Given the description of an element on the screen output the (x, y) to click on. 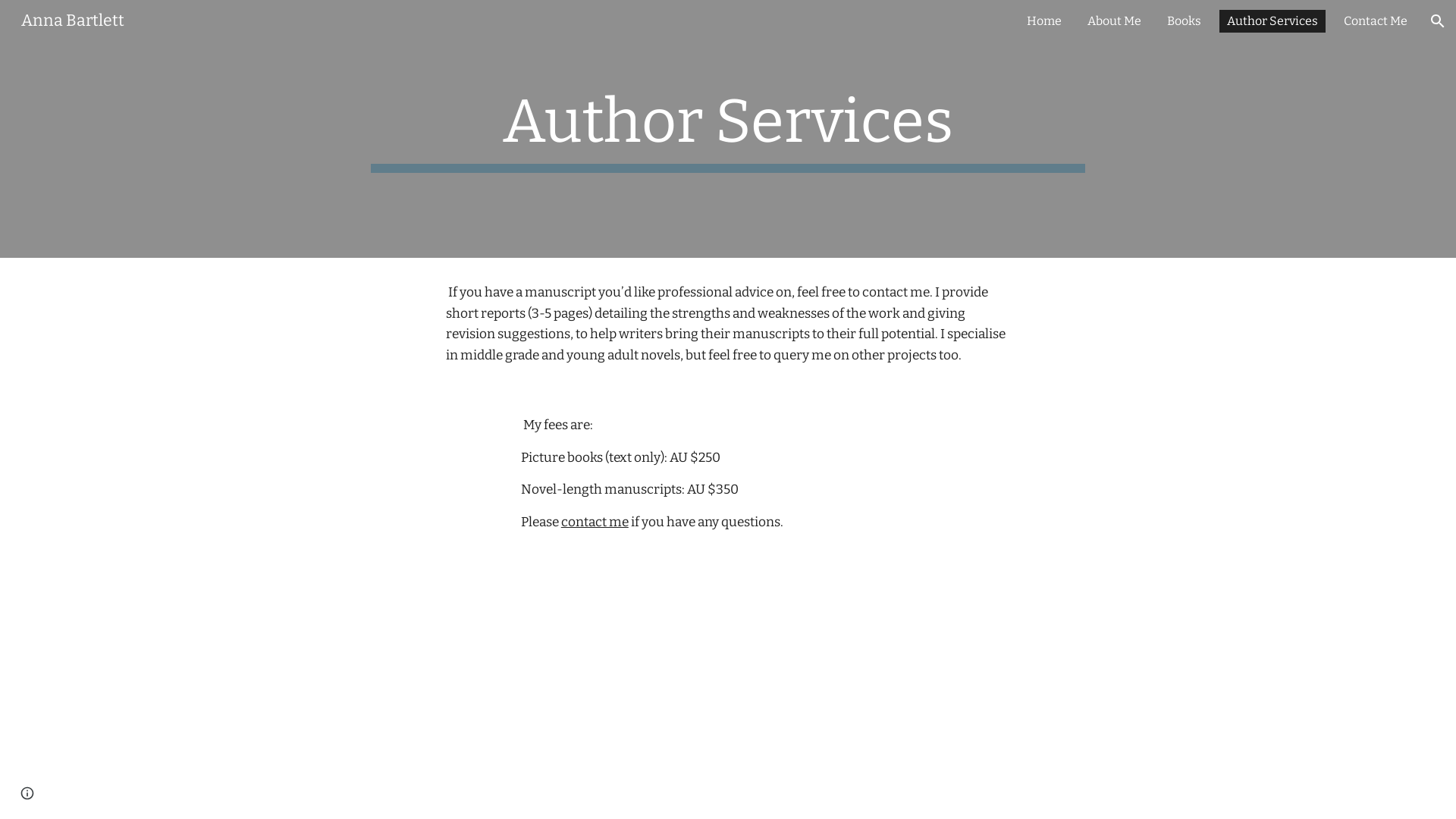
contact me Element type: text (594, 522)
Author Services Element type: text (1272, 20)
Anna Bartlett Element type: text (72, 20)
Contact Me Element type: text (1375, 20)
Books Element type: text (1183, 20)
Home Element type: text (1044, 20)
About Me Element type: text (1113, 20)
